Given the description of an element on the screen output the (x, y) to click on. 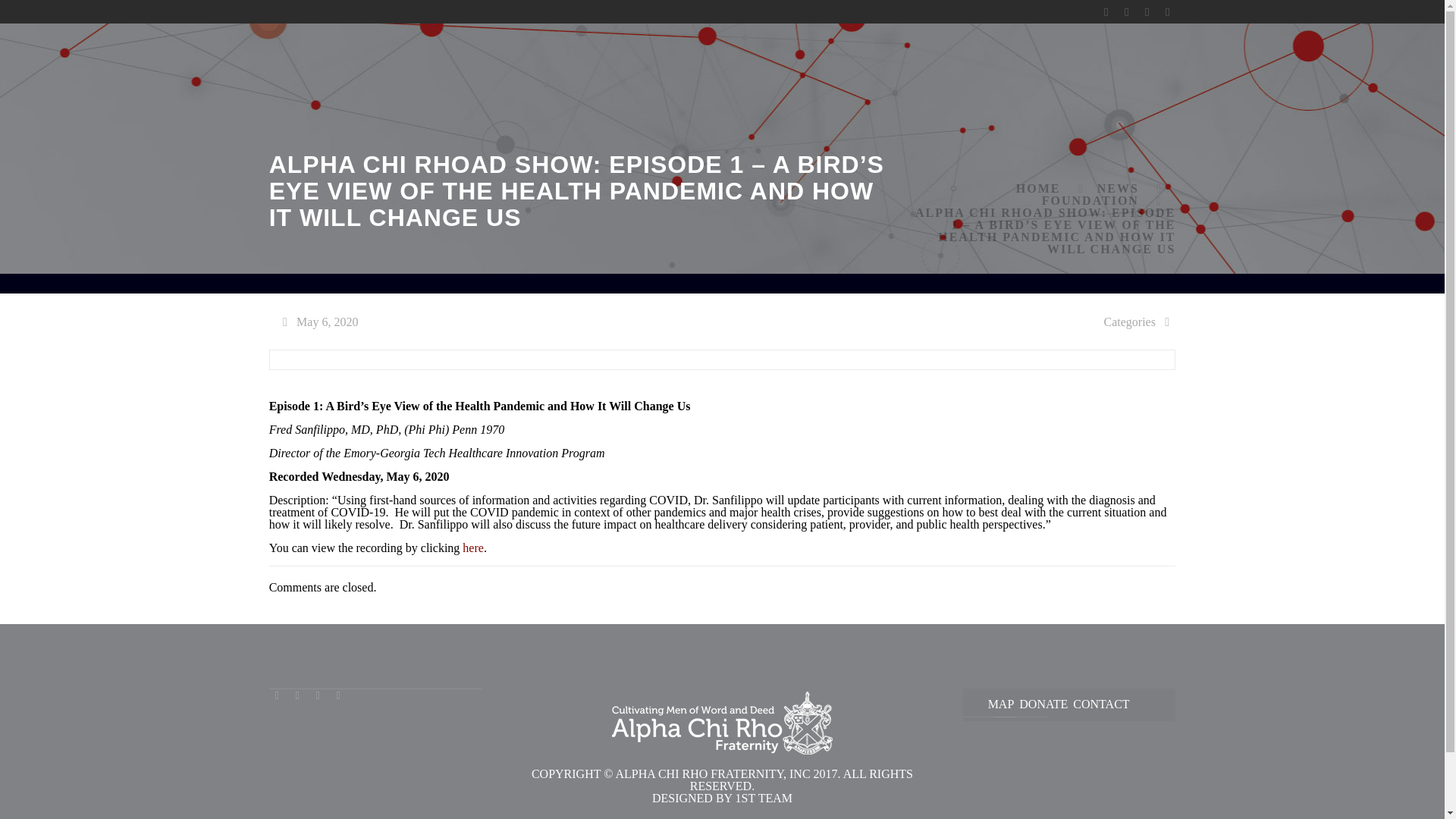
Facebook (1105, 11)
Instagram (1166, 11)
LinkedIn (1146, 11)
Twitter (297, 695)
Twitter (1126, 11)
LinkedIn (318, 695)
Facebook (277, 695)
Instagram (338, 695)
